Given the description of an element on the screen output the (x, y) to click on. 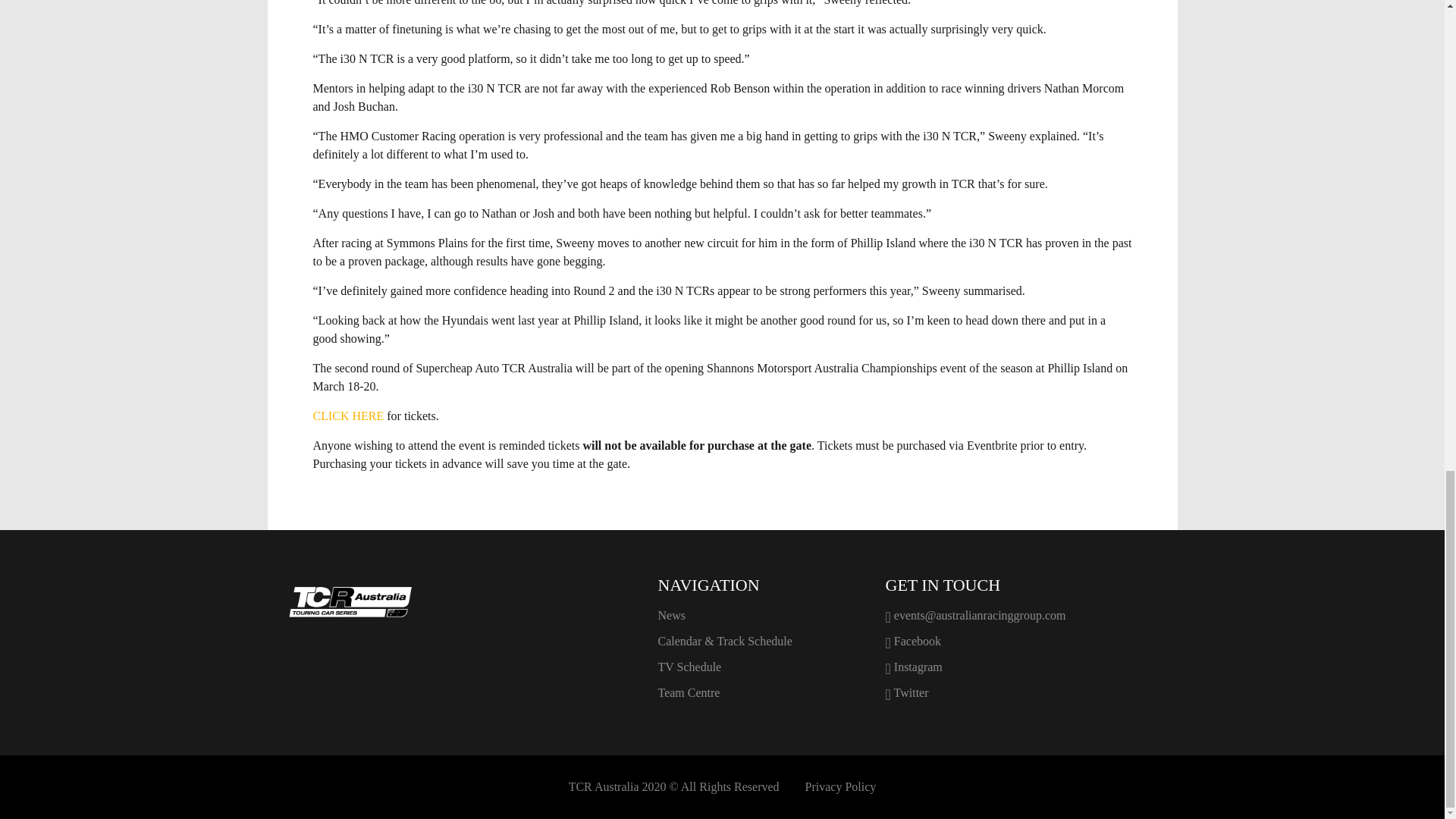
Privacy Policy (840, 787)
TV Schedule (760, 667)
Twitter (1025, 692)
News (760, 615)
Instagram (1025, 667)
Facebook (1025, 641)
Team Centre (760, 692)
CLICK HERE (348, 415)
